Given the description of an element on the screen output the (x, y) to click on. 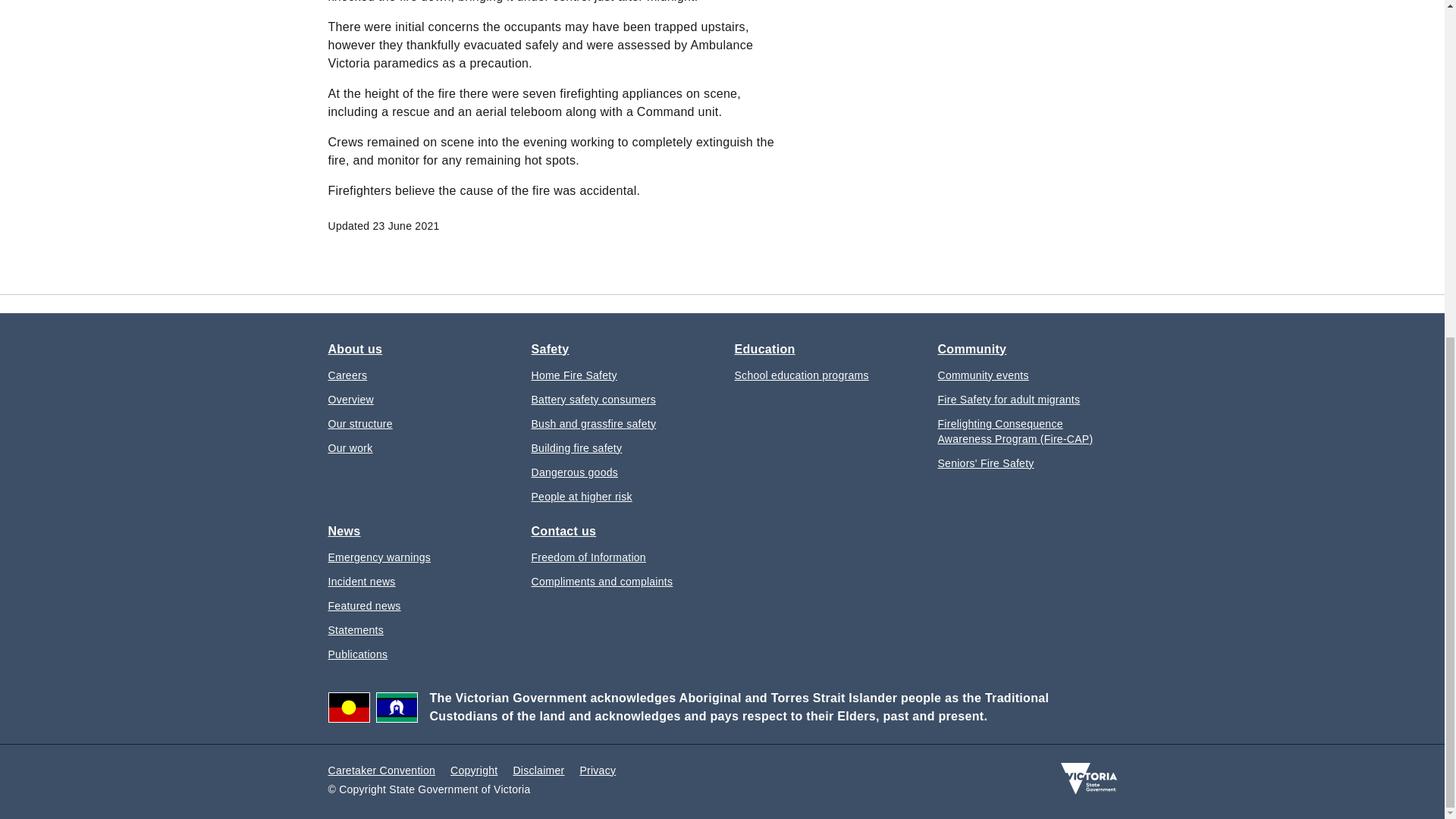
Featured news (363, 604)
Education (763, 348)
Our structure (359, 422)
About us (354, 348)
Community events (982, 374)
Fire Safety for adult migrants (1008, 398)
Our work (349, 447)
Incident news (360, 580)
Bush and grassfire safety (593, 422)
People at higher risk (581, 495)
